Given the description of an element on the screen output the (x, y) to click on. 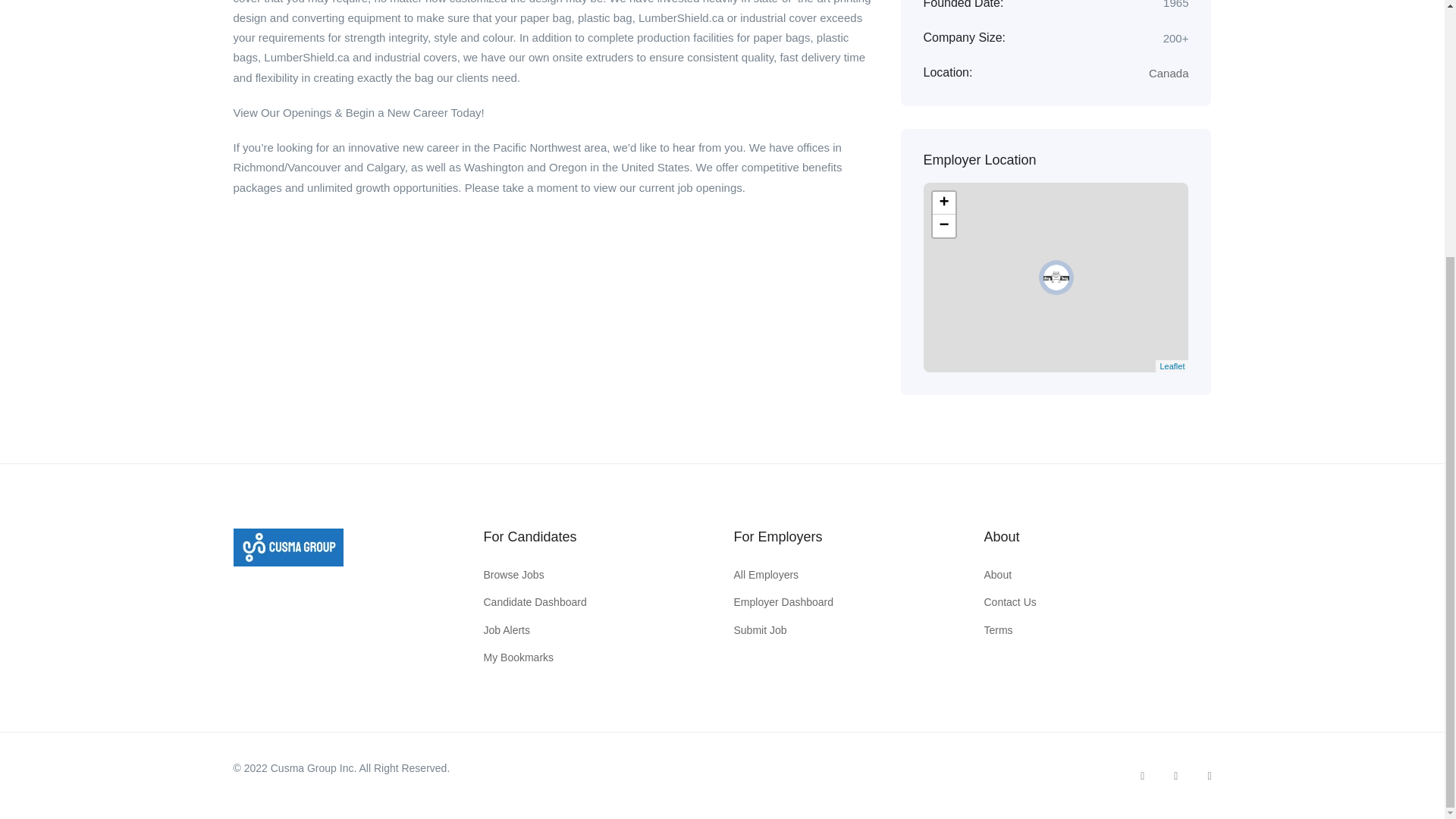
Zoom in (944, 202)
Zoom out (944, 225)
A JS library for interactive maps (1171, 366)
